Given the description of an element on the screen output the (x, y) to click on. 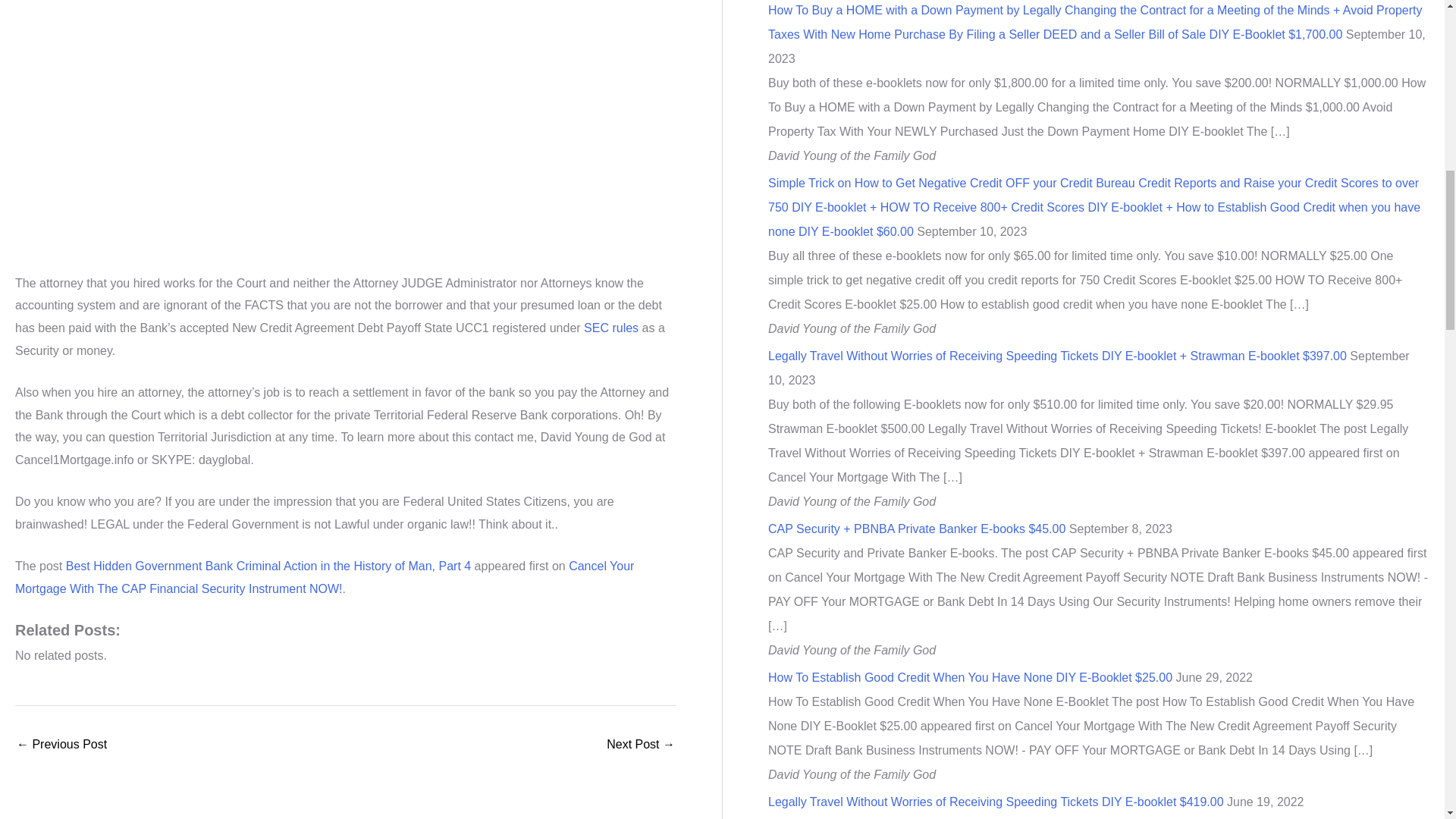
SEC rules (611, 327)
